Given the description of an element on the screen output the (x, y) to click on. 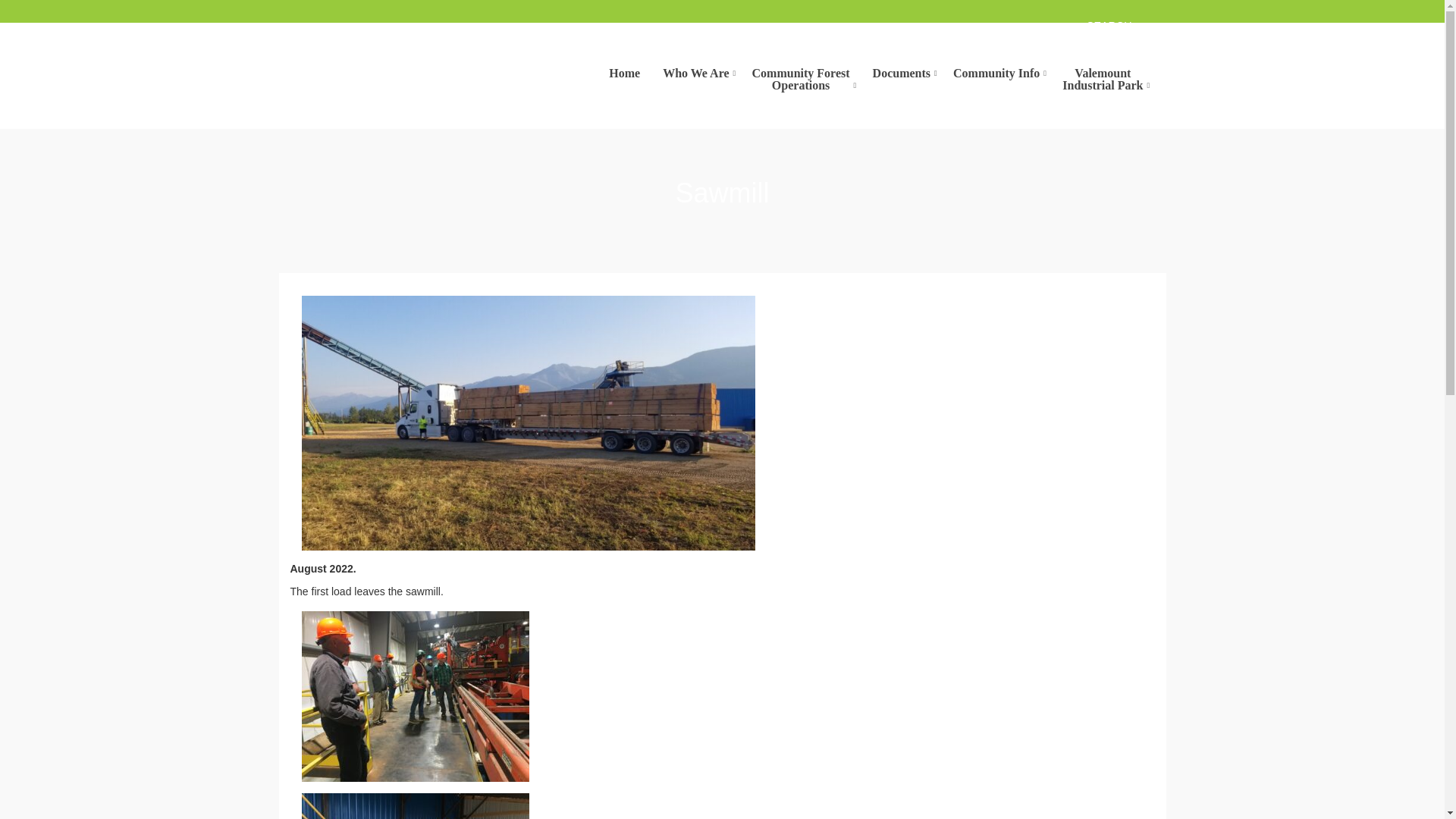
Community Info (996, 72)
Home (1102, 78)
Documents (623, 72)
Who We Are (901, 72)
